Given the description of an element on the screen output the (x, y) to click on. 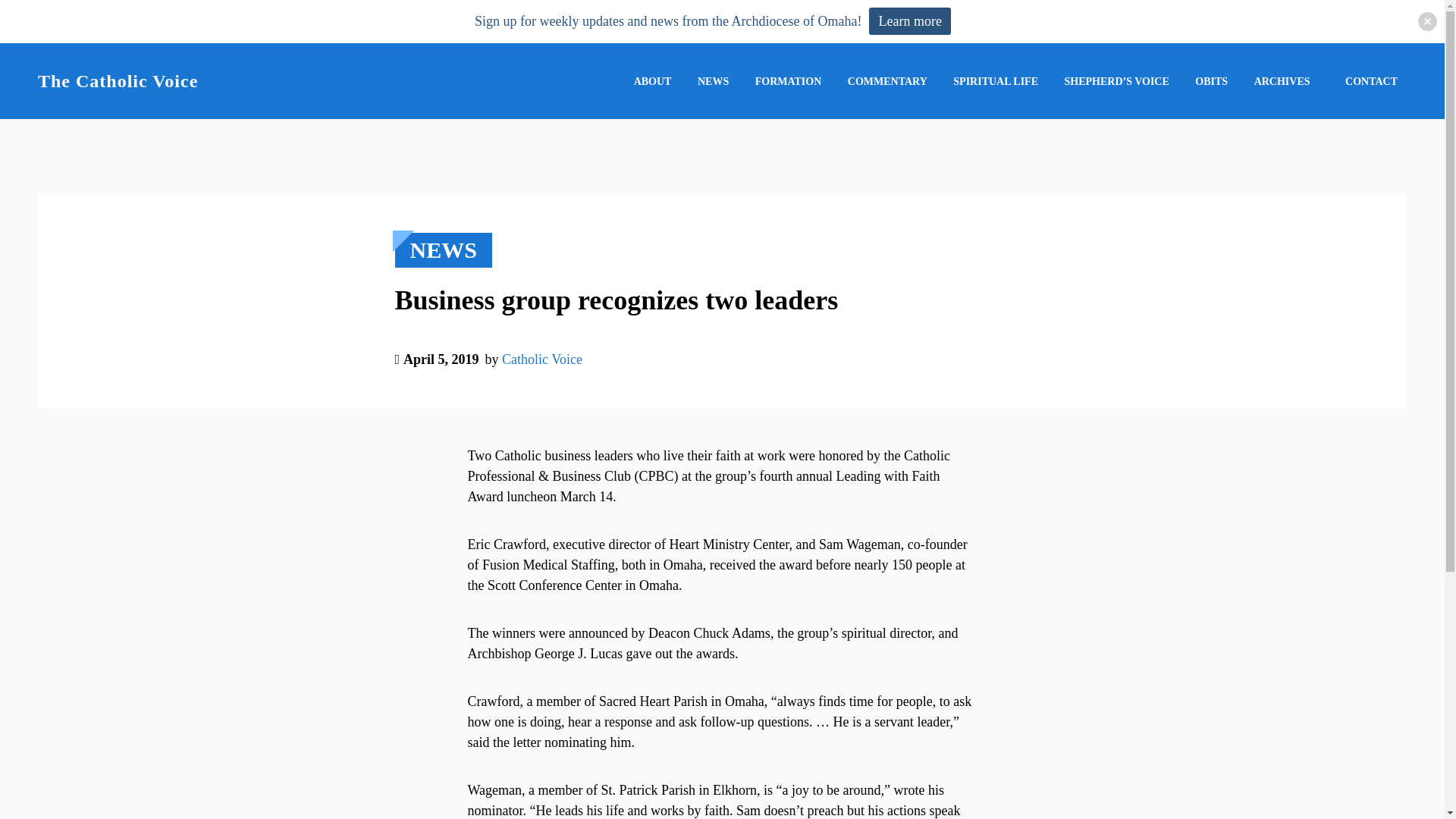
ABOUT (652, 81)
Posts by Catholic Voice (542, 359)
FORMATION (788, 81)
Learn more (909, 21)
The Catholic Voice (117, 81)
SPIRITUAL LIFE (995, 81)
COMMENTARY (887, 81)
ARCHIVES (1281, 81)
NEWS (713, 81)
OBITS (1211, 81)
CONTACT (1371, 81)
Catholic Voice (542, 384)
